Given the description of an element on the screen output the (x, y) to click on. 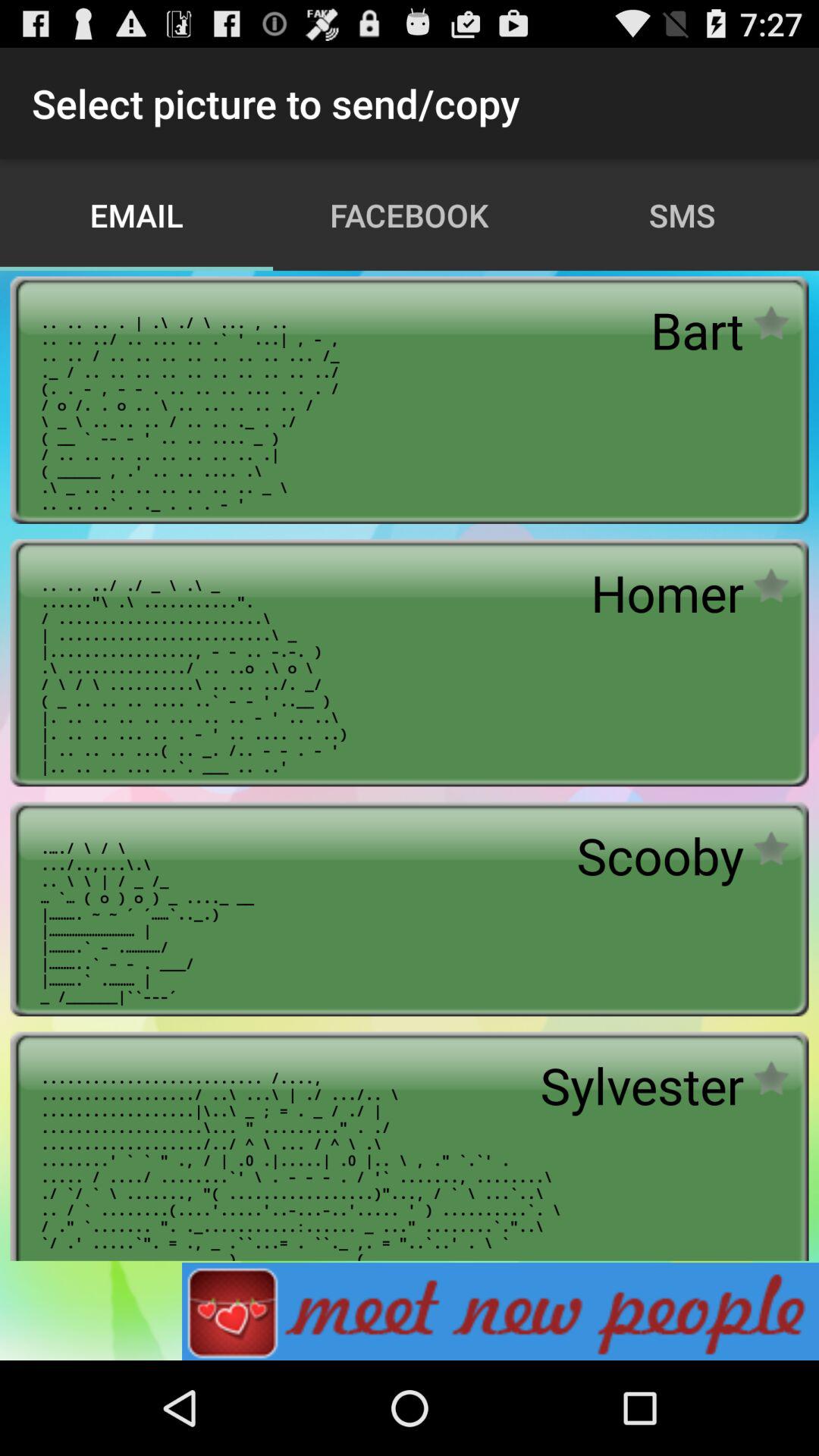
launch the item to the right of the _ _ o icon (659, 855)
